Given the description of an element on the screen output the (x, y) to click on. 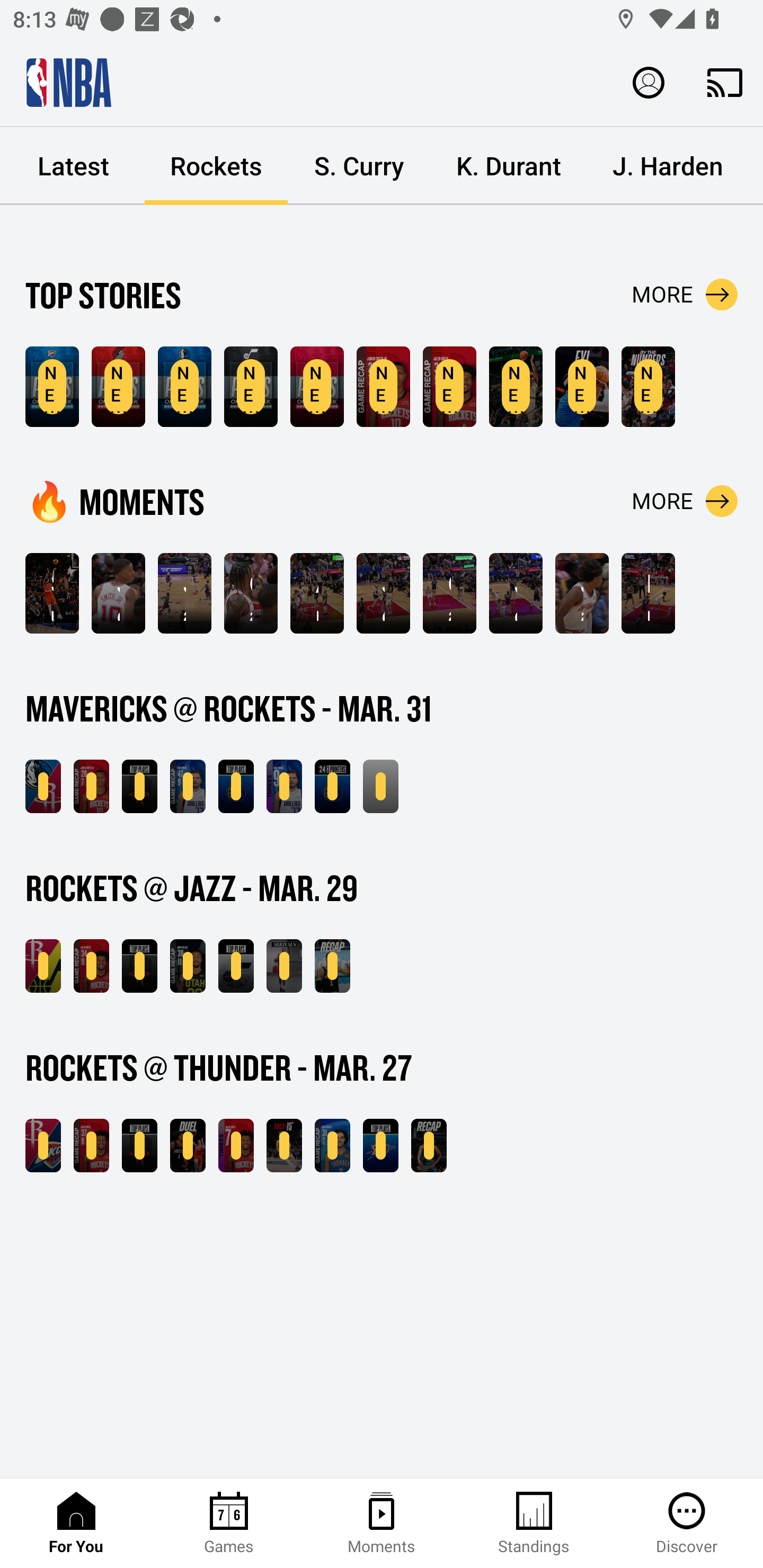
Cast. Disconnected (724, 82)
Profile (648, 81)
Latest (72, 166)
S. Curry (359, 166)
K. Durant (508, 166)
J. Harden (667, 166)
MORE (684, 294)
NEW OKC's Top Plays of Week 23 (51, 386)
NEW POR's Top Plays of Week 23 (117, 386)
NEW DAL's Top Plays of Week 23 (184, 386)
NEW UTA's Top Plays of Week 23 (250, 386)
NEW HOU's Top Plays of Week 23 (317, 386)
Highlights From Jalen Green's 34-Point Game NEW (449, 386)
5 Hottest Teams Since All-Star Break NEW (515, 386)
5 Hottest Teams Since All-Star Break 🔥 NEW (581, 386)
Jalen Green Blasts Off 🚀 NEW (648, 386)
MORE (684, 500)
Sunday's Top Plays In 30 Seconds ⏱ (51, 593)
Jeenathan Williams with the feed (117, 593)
Jabari Smith Jr. denies the attempt (184, 593)
Cam Whitmore hits from way downtown (250, 593)
And-1 for Jabari Smith Jr.! (317, 593)
Jock Landale gets the And-1 (383, 593)
Cam Whitmore rises up for the dunk (449, 593)
Jock Landale ascends for the slam! (515, 593)
Jalen Green Is Cleared For Takeoff 🚀 (581, 593)
Dunk by Amen Thompson (648, 593)
NEW DAL @ HOU HIGHLIGHTS (43, 785)
NEW HOU's Top Plays from DAL vs. HOU (139, 785)
NEW Highlights From Luka Doncic's 47-Point Game (187, 785)
NEW DAL's Top Plays from DAL vs. HOU (236, 785)
Highlights From Luka Doncic's 9-3-pointer Game NEW (284, 785)
All 3-pointers from DAL's 24 3-pointer Night NEW (332, 785)
Sunday's Recap NEW (380, 785)
NEW HOU @ UTA HIGHLIGHTS (43, 965)
NEW Highlights From Jalen Green's 34-Point Game (91, 965)
NEW HOU's Top Plays from HOU vs. UTA (139, 965)
NEW Highlights From John Collins's 30-Point Game (187, 965)
NEW UTA's Top Plays from HOU vs. UTA (236, 965)
Friday Night Fashion 😎 NEW (284, 965)
Friday's Recap NEW (332, 965)
NEW HOU @ OKC HIGHLIGHTS (43, 1145)
NEW Highlights From Jalen Green's 37-Point Game (91, 1145)
NEW HOU's Top Plays from HOU vs. OKC (139, 1145)
NEW Jalen Green vs. Josh Giddey Battle (187, 1145)
NEW Highlights From Jalen Green's 7 3-Pointer Game (236, 1145)
First to 15 Mar. 27th NEW (284, 1145)
Highlights From Josh Giddey's 31-Point Game NEW (332, 1145)
OKC's Top Plays from HOU vs. OKC NEW (380, 1145)
Wednesday's Recap NEW (428, 1145)
Games (228, 1523)
Moments (381, 1523)
Standings (533, 1523)
Discover (686, 1523)
